Given the description of an element on the screen output the (x, y) to click on. 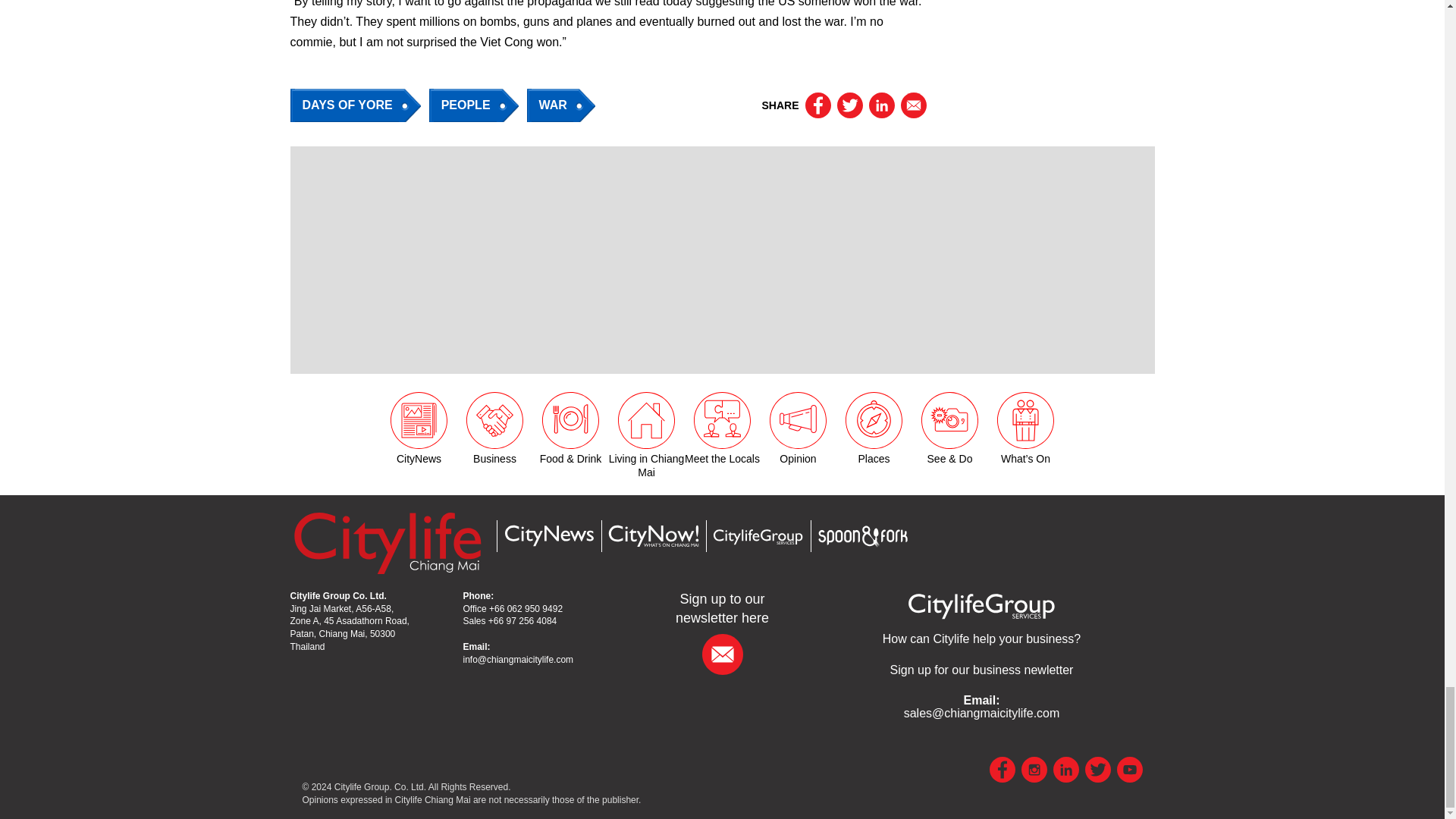
Citylife Group Services (981, 638)
CityNow - What's on Chiang Mai (652, 535)
Chiang Mai Citylife (386, 542)
CityNews (548, 535)
Citylife Group Services (981, 604)
Citylife Group Services (757, 536)
